Given the description of an element on the screen output the (x, y) to click on. 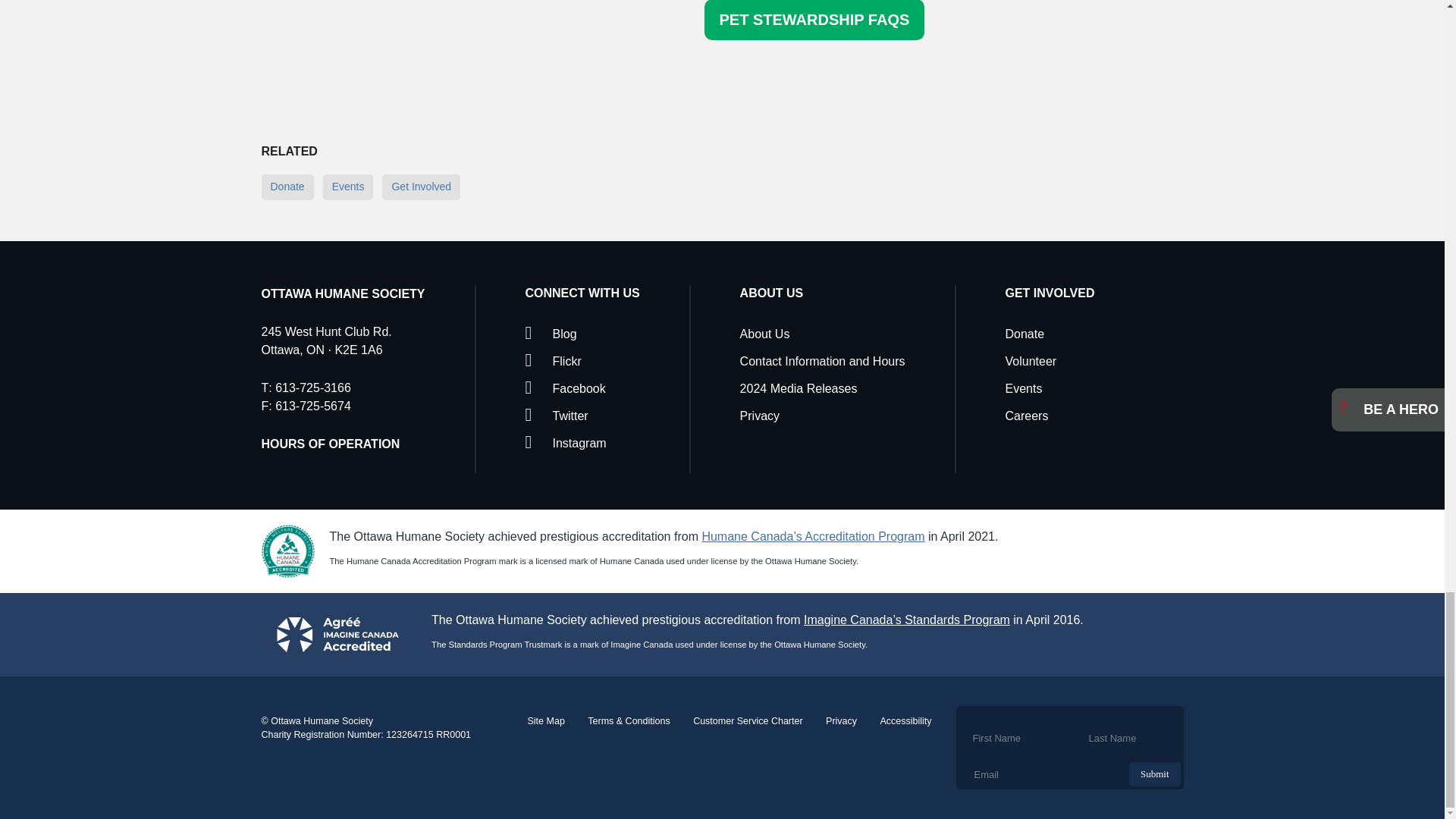
Submit (1154, 774)
